Given the description of an element on the screen output the (x, y) to click on. 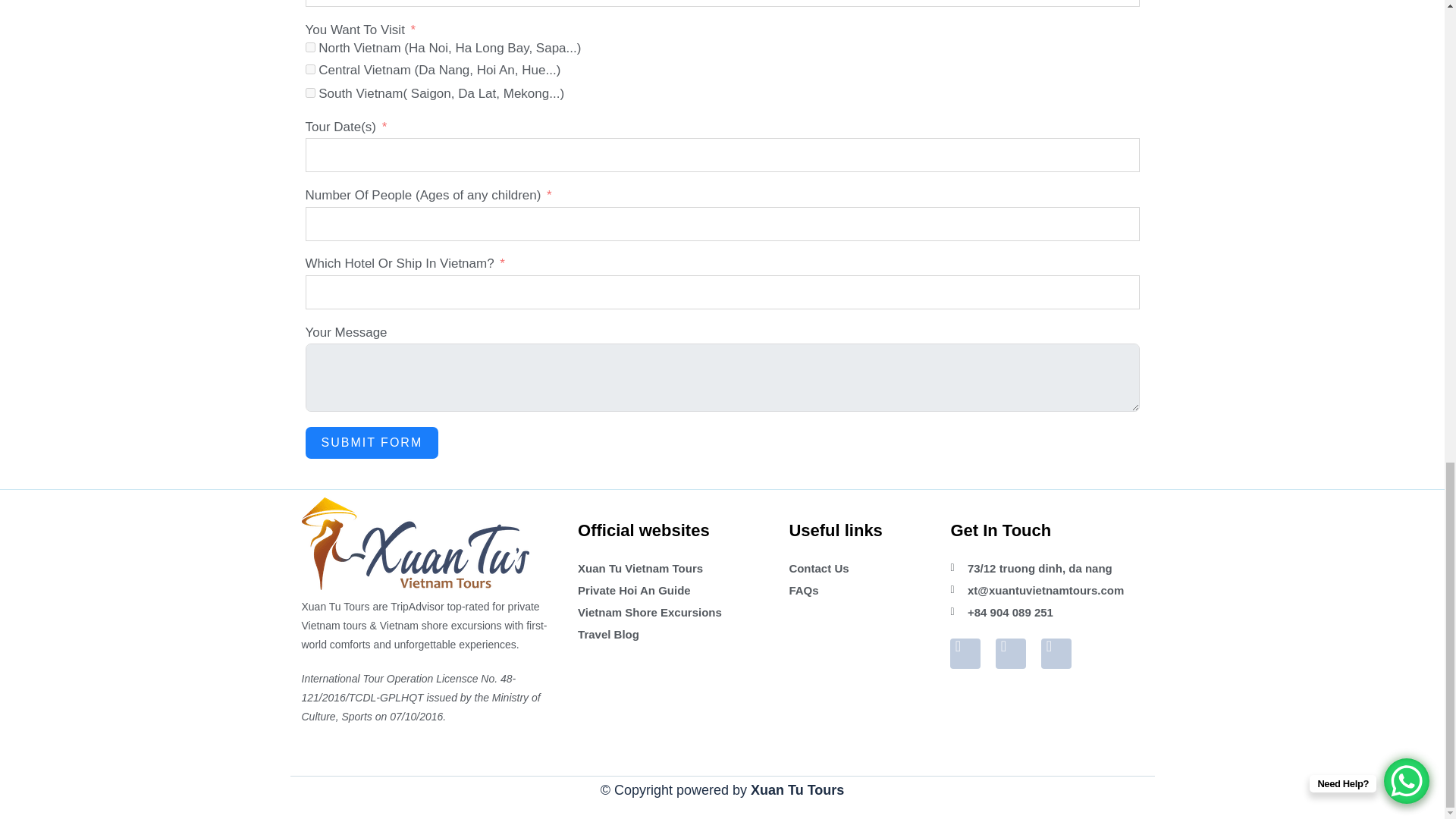
FAQs (858, 590)
Travel Blog (671, 634)
Xuan Tu Vietnam Tours (671, 568)
Private Hoi An Guide (671, 590)
Contact Us (858, 568)
SUBMIT FORM (371, 442)
Vietnam Shore Excursions (671, 612)
